Given the description of an element on the screen output the (x, y) to click on. 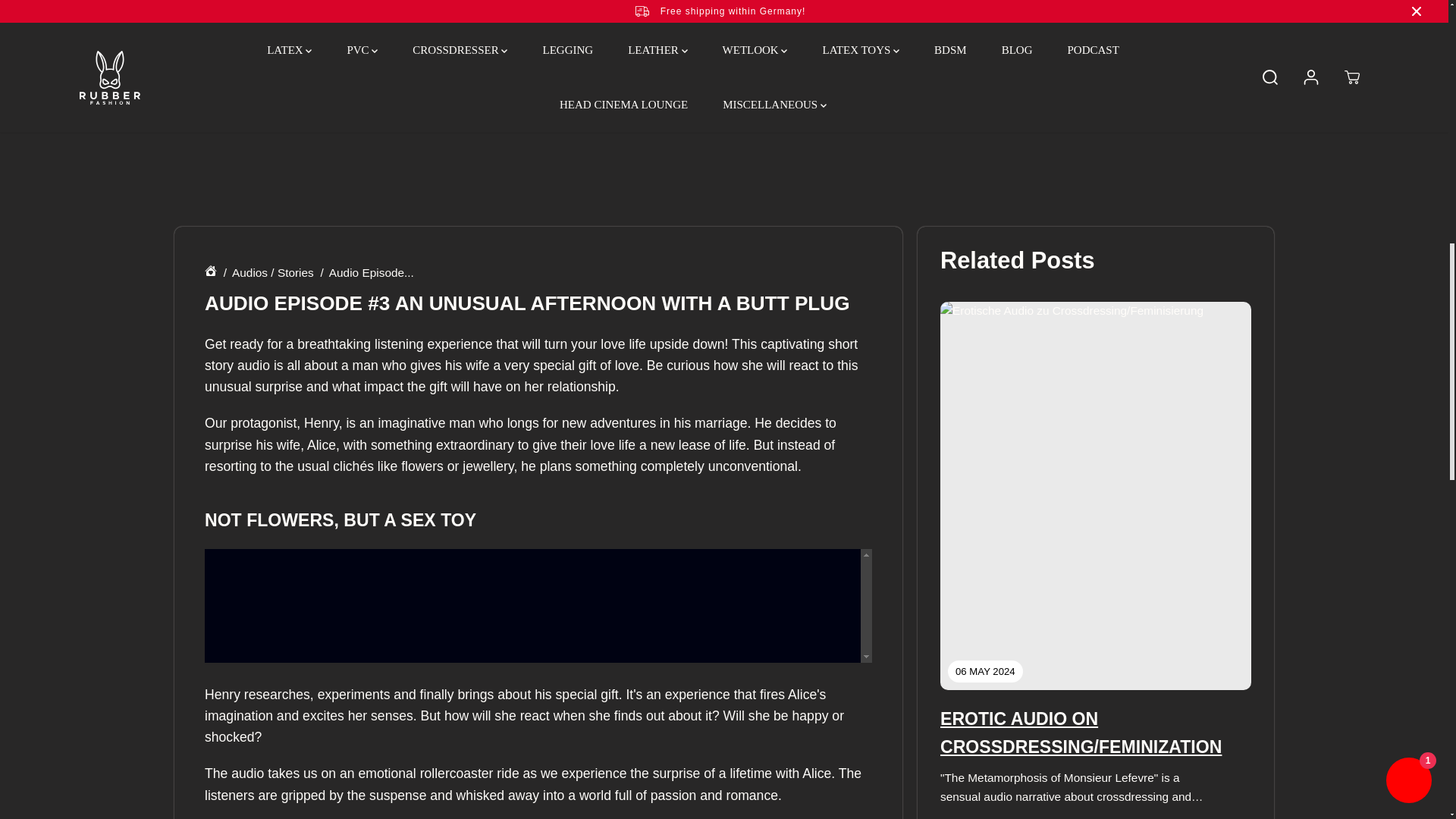
Home (210, 273)
